Given the description of an element on the screen output the (x, y) to click on. 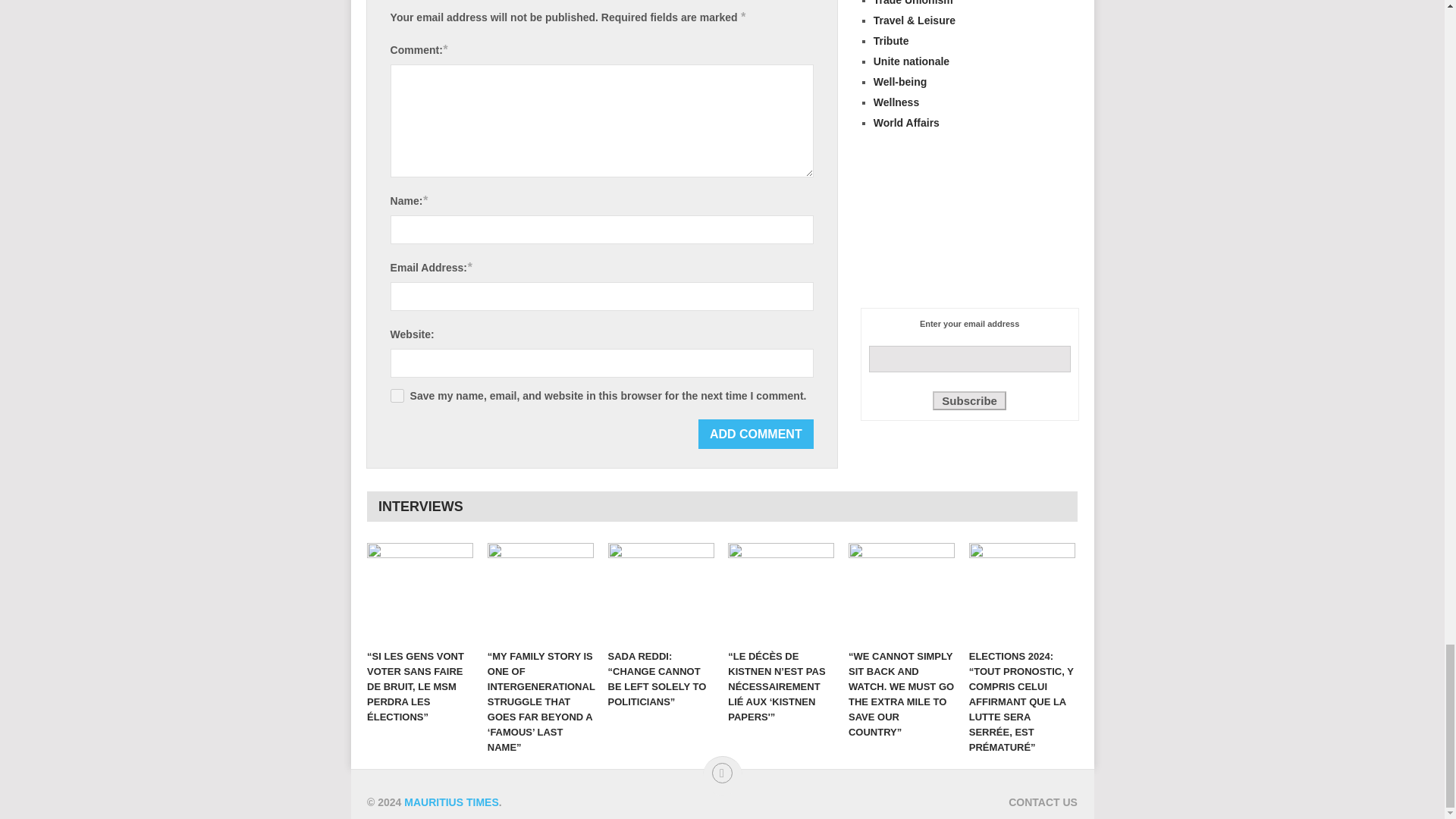
yes (397, 395)
Subscribe (969, 400)
Add Comment (755, 433)
